Given the description of an element on the screen output the (x, y) to click on. 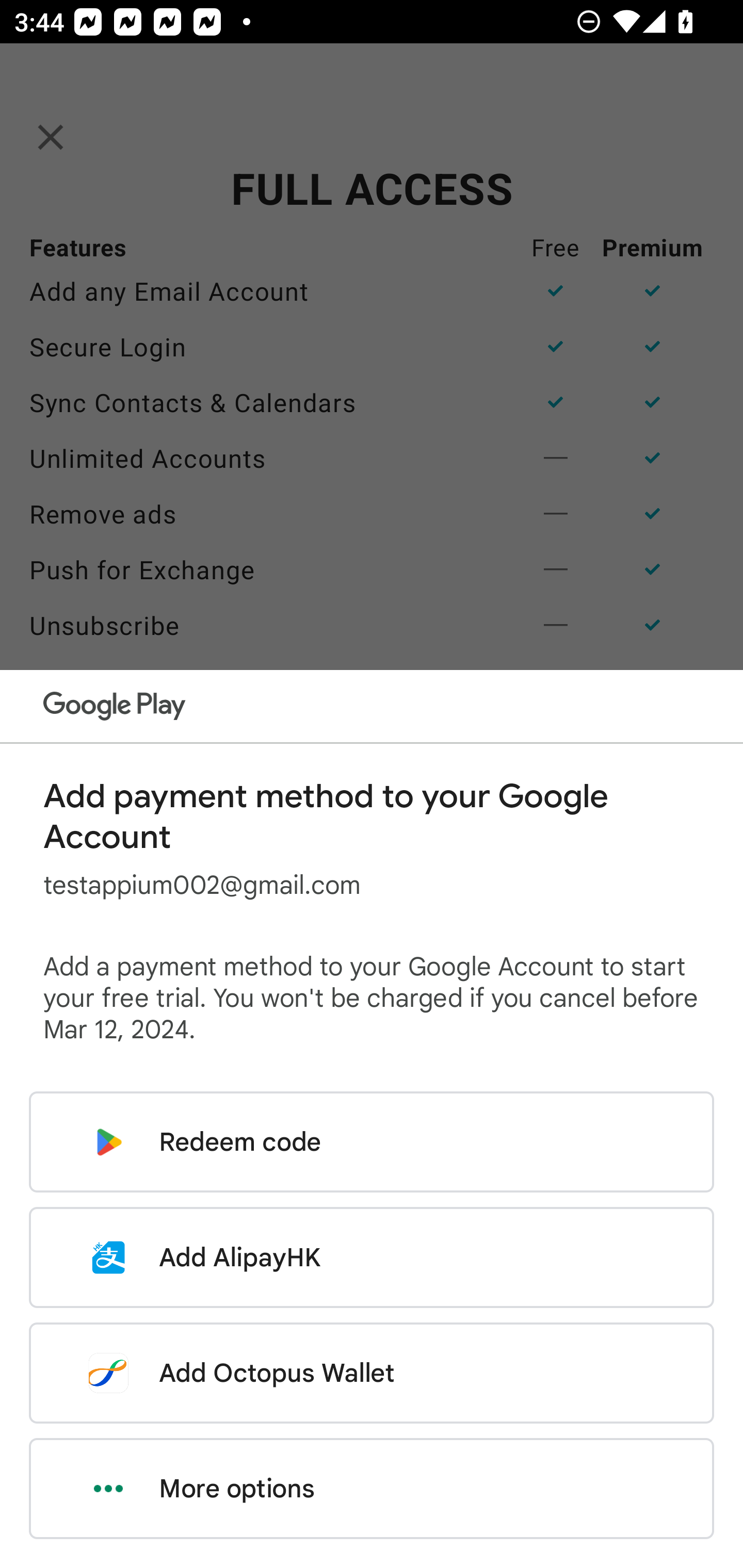
Redeem code (371, 1142)
Add AlipayHK (371, 1257)
Add Octopus Wallet (371, 1372)
More options (371, 1488)
